Given the description of an element on the screen output the (x, y) to click on. 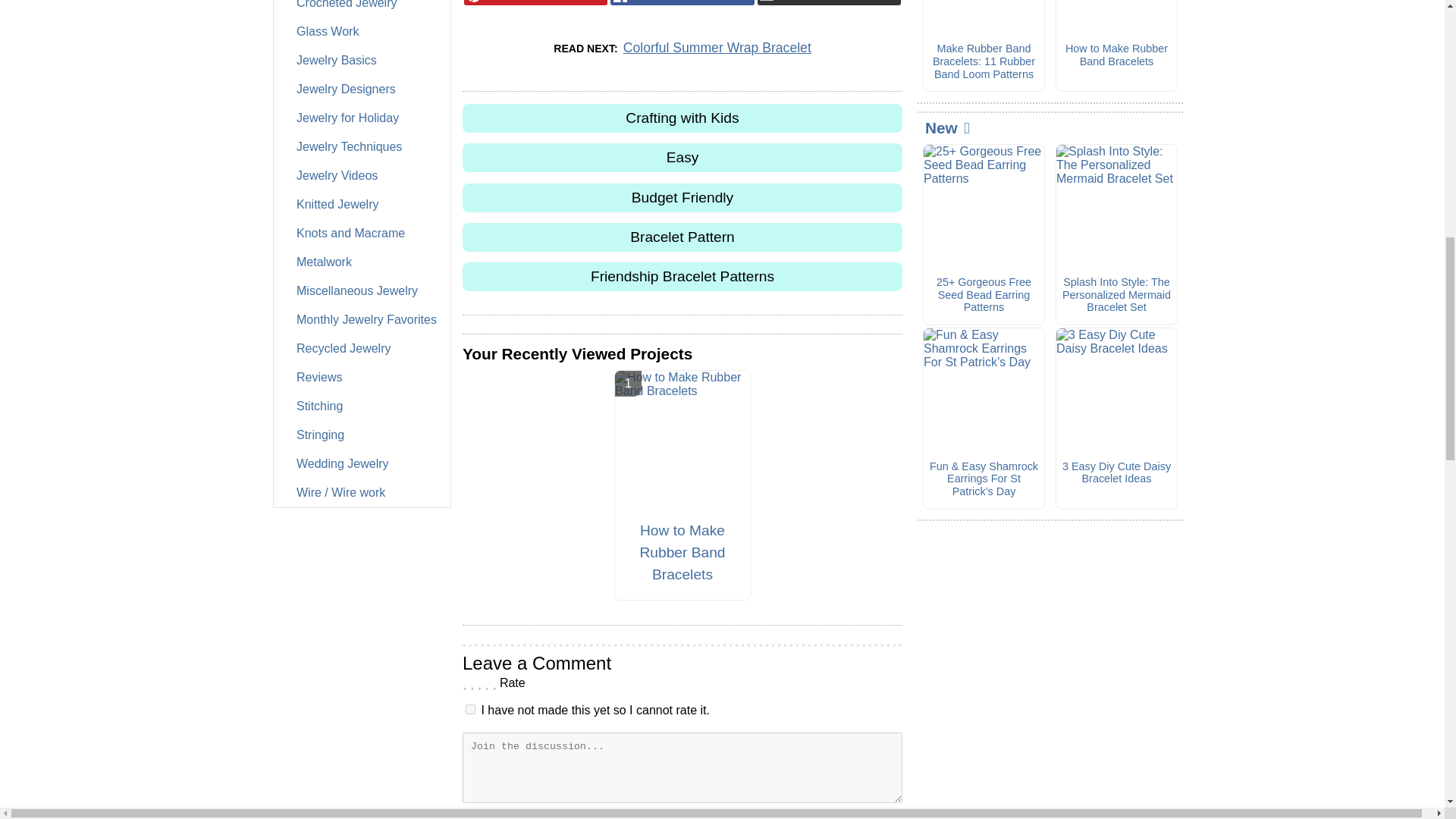
Facebook (682, 2)
Submit (681, 816)
1 (470, 709)
Email (829, 2)
